Given the description of an element on the screen output the (x, y) to click on. 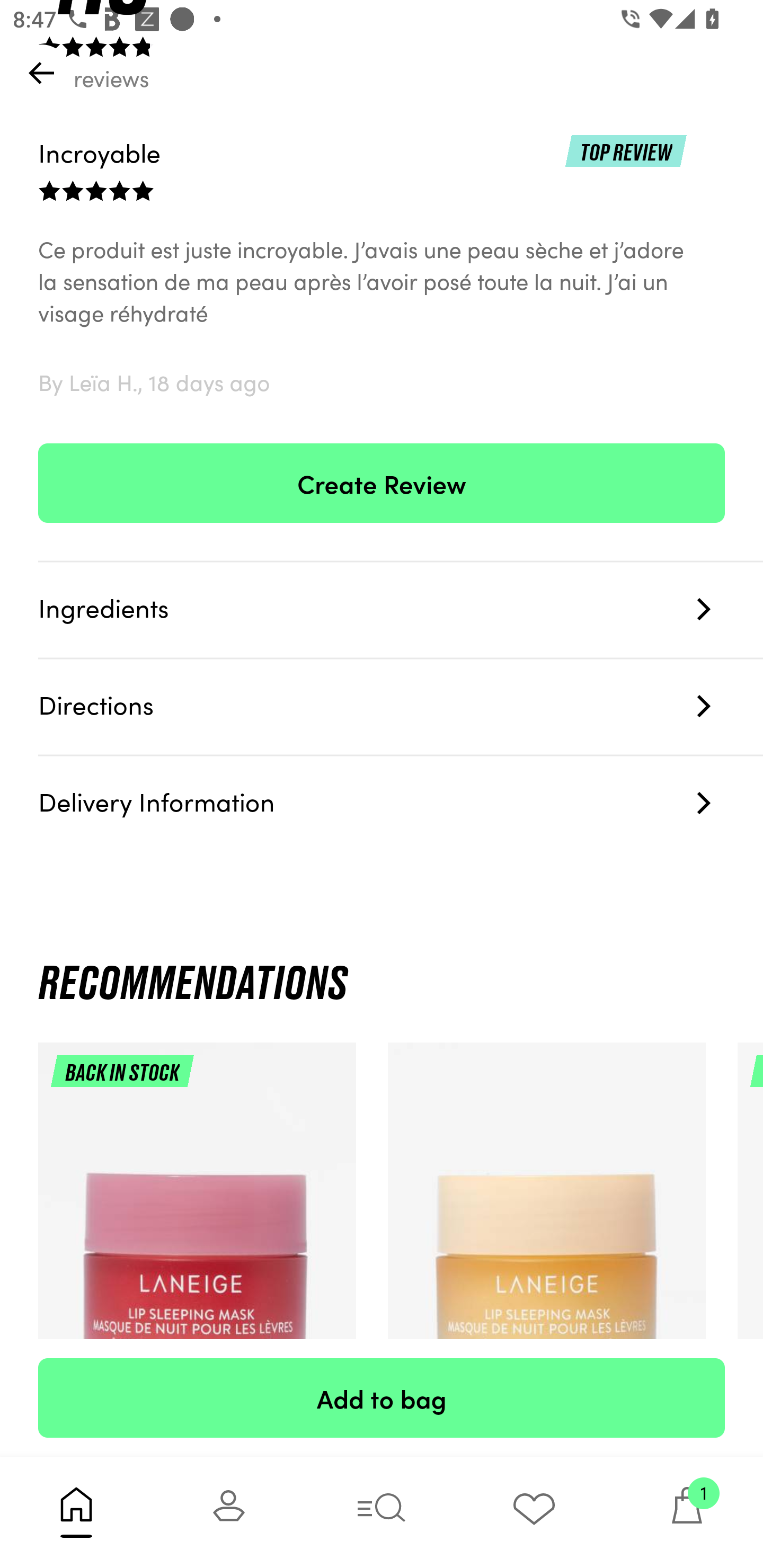
Create Review (381, 482)
Ingredients  (400, 610)
Directions  (400, 707)
Delivery Information  (400, 803)
BACK IN STOCK (197, 1240)
Add to bag (381, 1397)
1 (686, 1512)
